Given the description of an element on the screen output the (x, y) to click on. 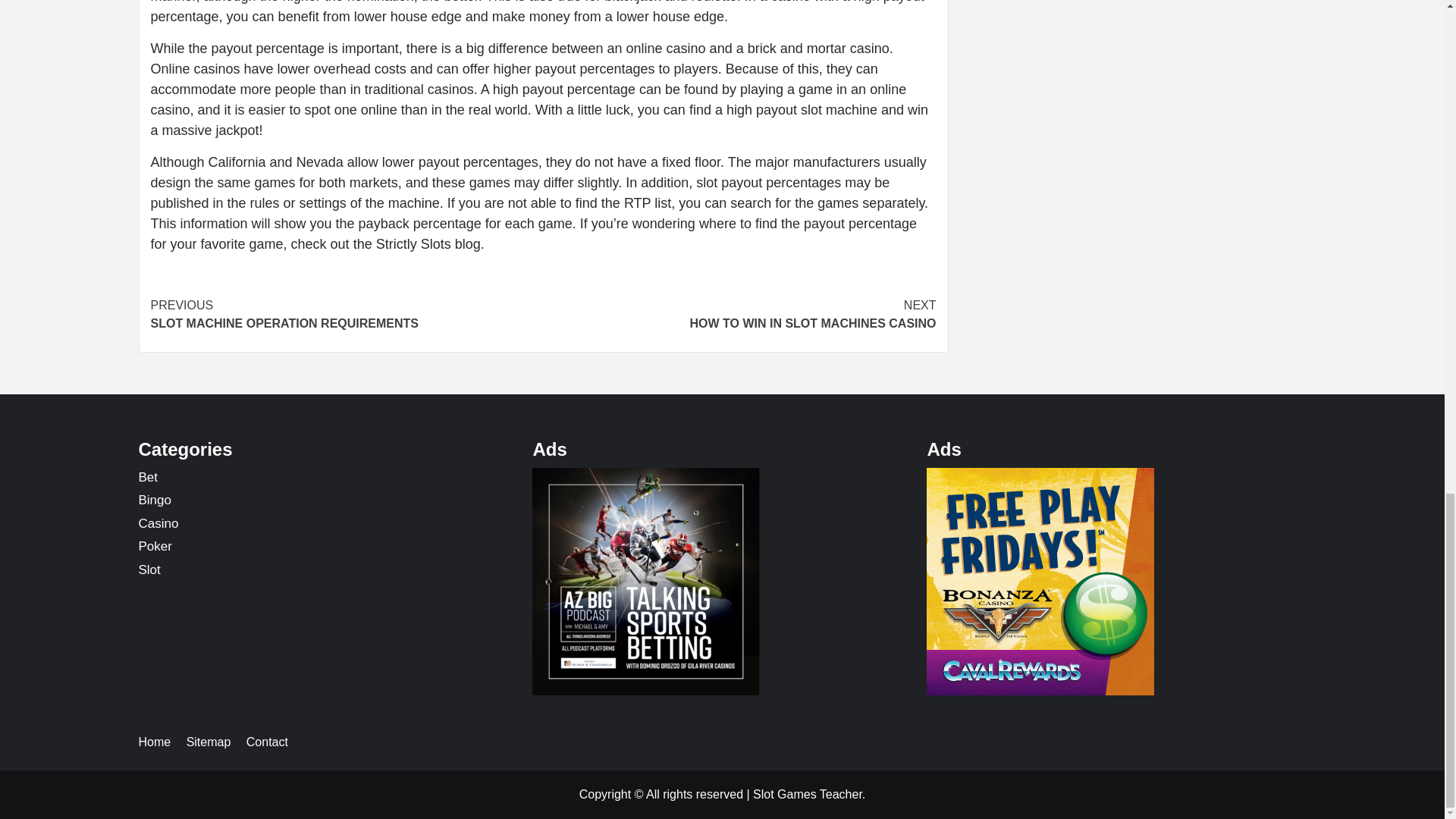
Home (160, 741)
Casino (157, 523)
Sitemap (214, 741)
Slot (149, 569)
Bet (346, 314)
Poker (147, 477)
Bingo (739, 314)
Contact (154, 545)
